Given the description of an element on the screen output the (x, y) to click on. 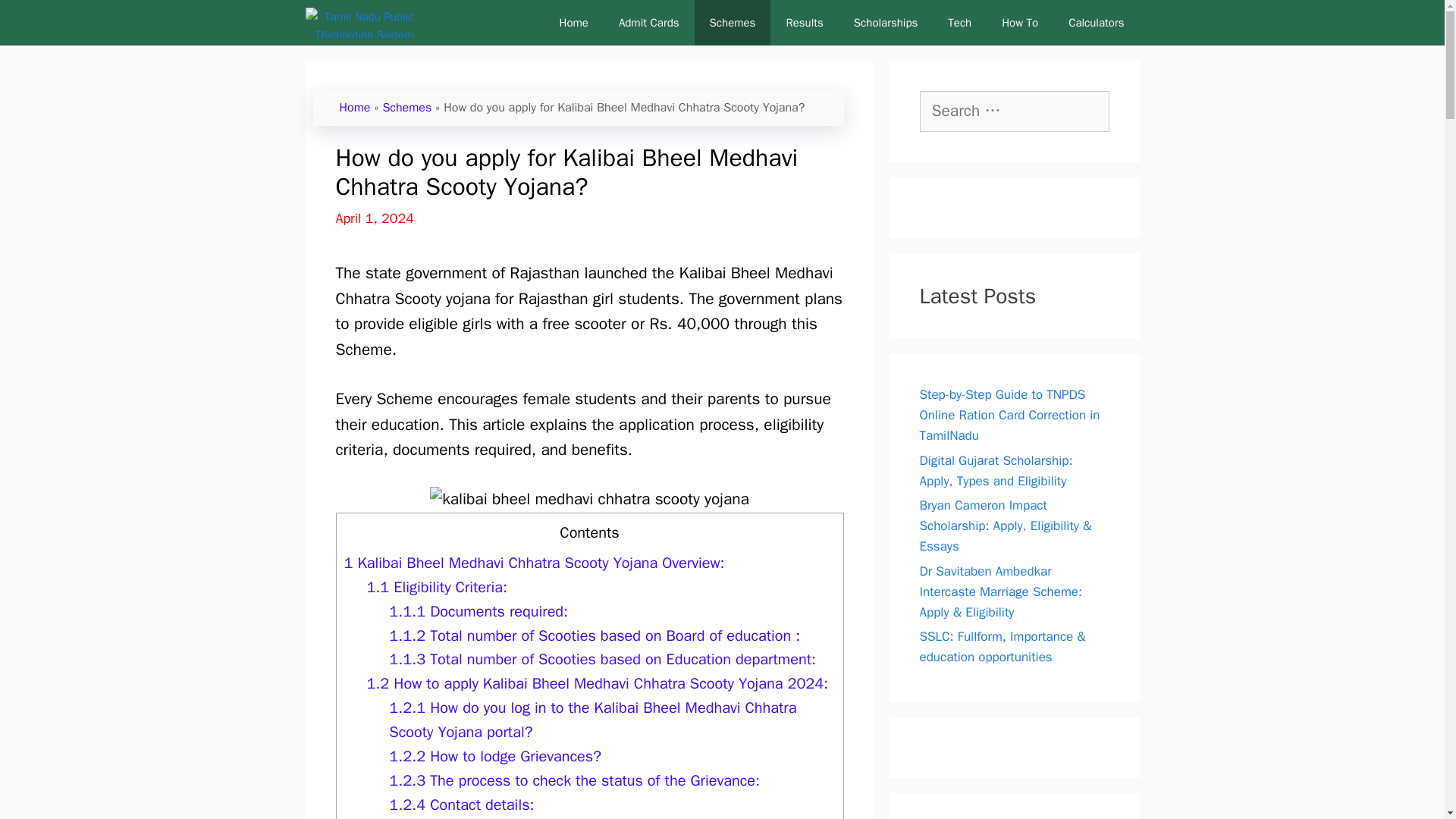
Schemes (405, 107)
Search (33, 17)
Search for: (1013, 110)
Schemes (732, 22)
Home (574, 22)
1.2.3 The process to check the status of the Grievance: (574, 780)
Tamil Nadu Public Distribution System (362, 22)
Digital Gujarat Scholarship: Apply, Types and Eligibility (994, 470)
1.1.1 Documents required: (477, 610)
Calculators (1095, 22)
1.1.2 Total number of Scooties based on Board of education : (593, 635)
1.2.2 How to lodge Grievances? (494, 755)
Scholarships (885, 22)
